Given the description of an element on the screen output the (x, y) to click on. 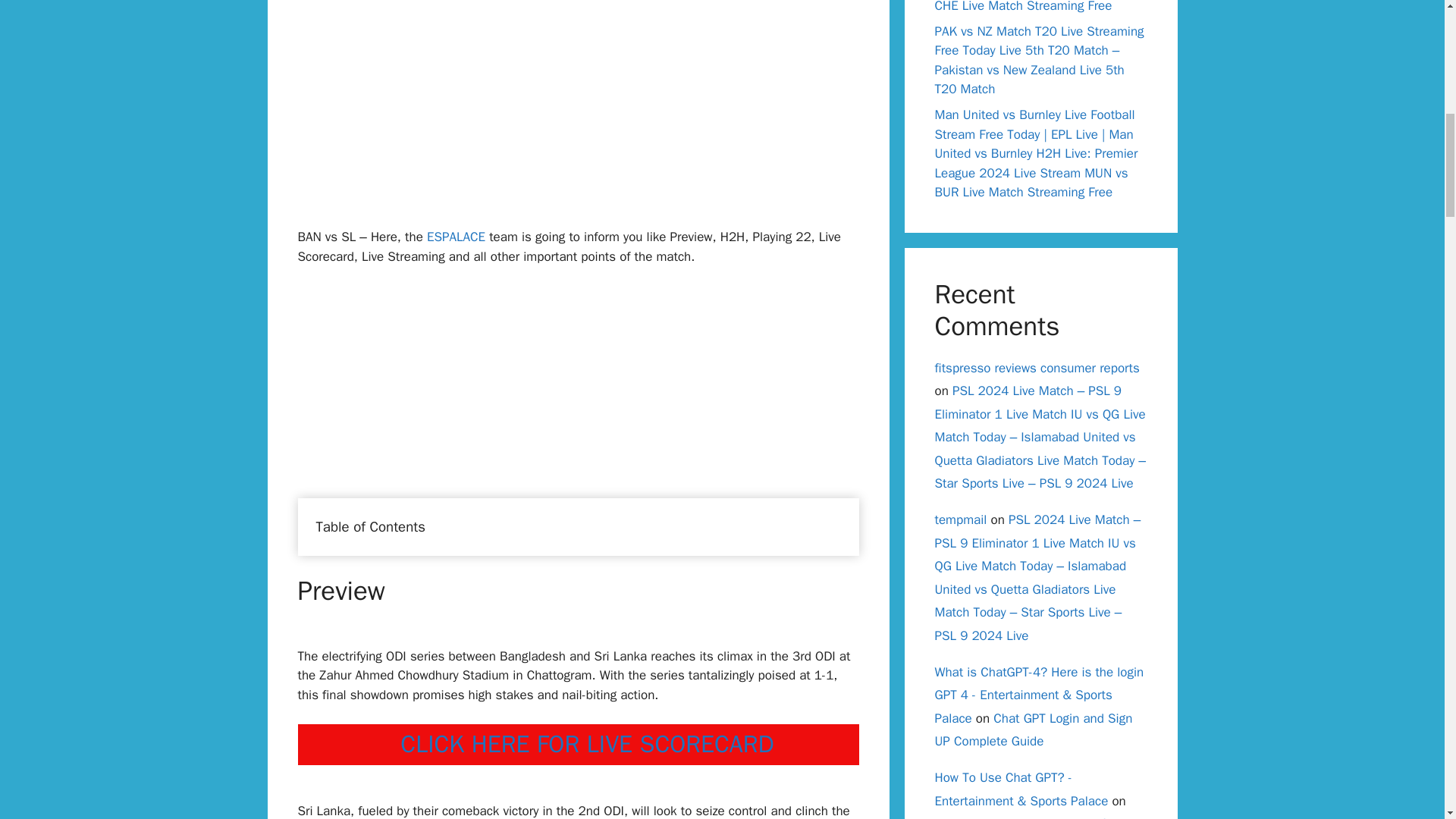
Advertisement (578, 391)
ESPALACE (455, 236)
Advertisement (578, 121)
CLICK HERE FOR LIVE SCORECARD (586, 744)
